Given the description of an element on the screen output the (x, y) to click on. 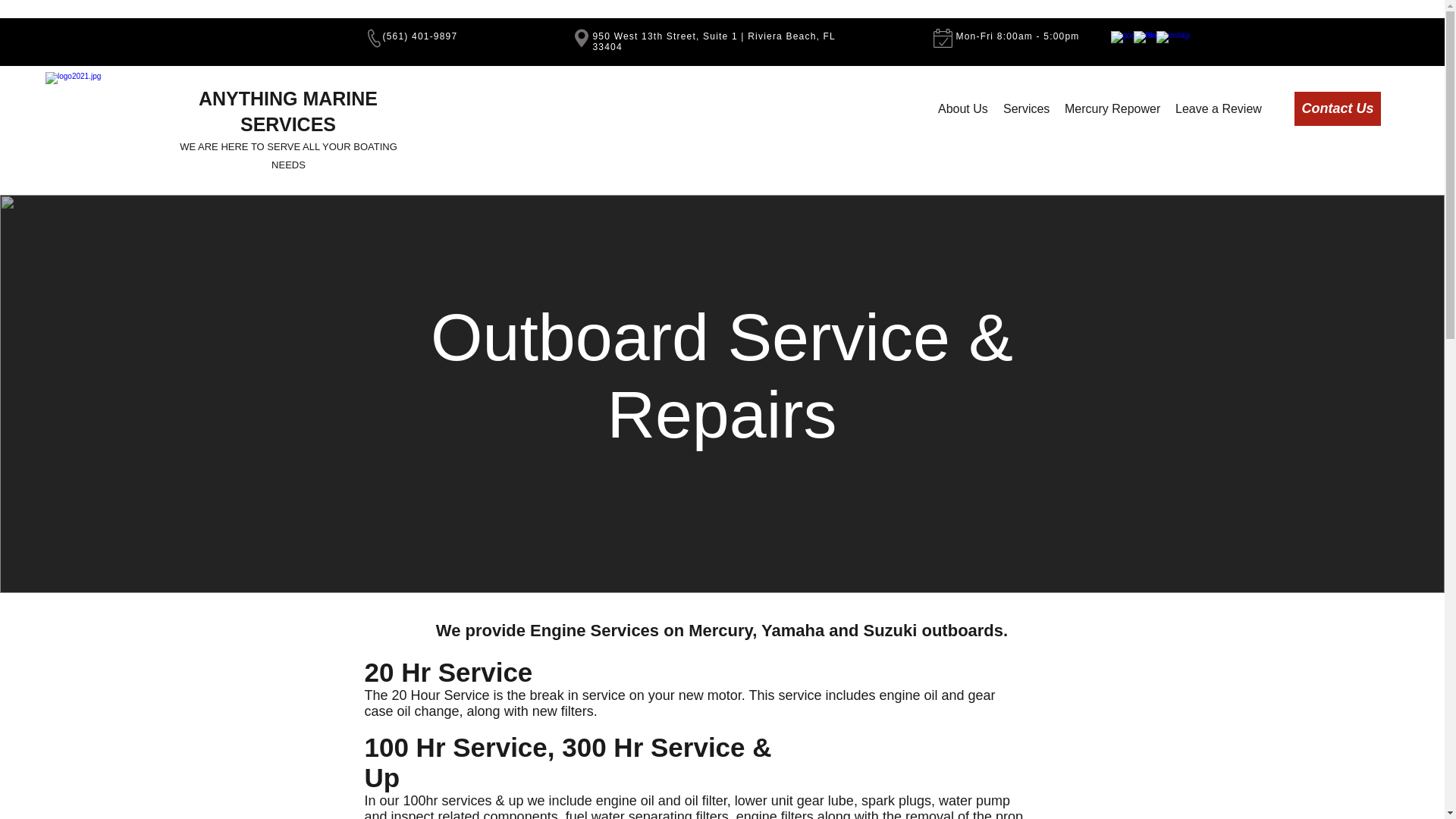
Mercury Repower (1112, 108)
About Us (962, 108)
WE ARE HERE TO SERVE ALL YOUR BOATING NEEDS (288, 155)
Services (1026, 108)
Contact Us (1337, 108)
ANYTHING MARINE SERVICES (287, 111)
Leave a Review (1218, 108)
